Given the description of an element on the screen output the (x, y) to click on. 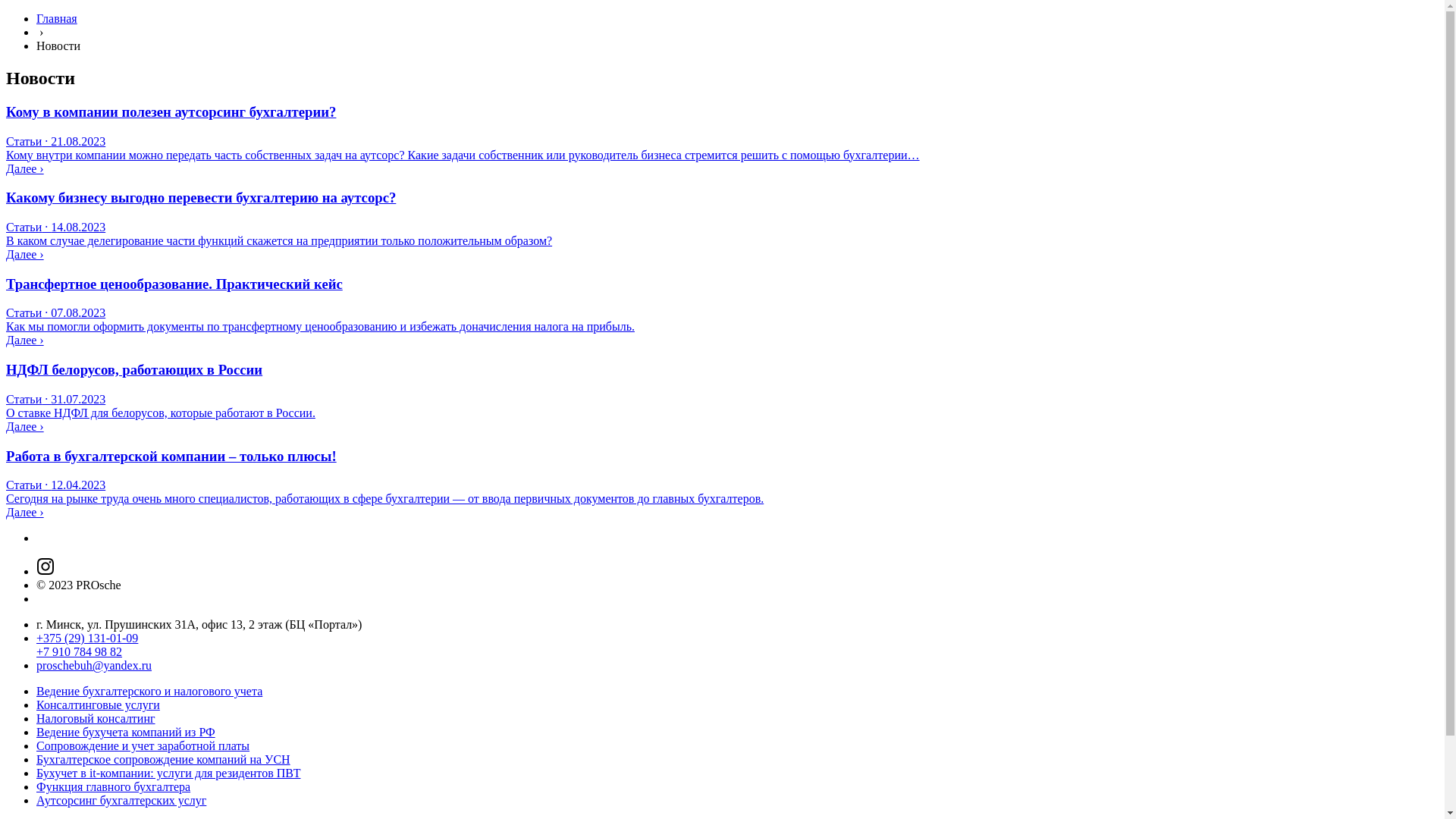
proschebuh@yandex.ru Element type: text (93, 664)
+7 910 784 98 82 Element type: text (79, 651)
+375 (29) 131-01-09 Element type: text (87, 637)
Instagram Element type: hover (45, 570)
